Given the description of an element on the screen output the (x, y) to click on. 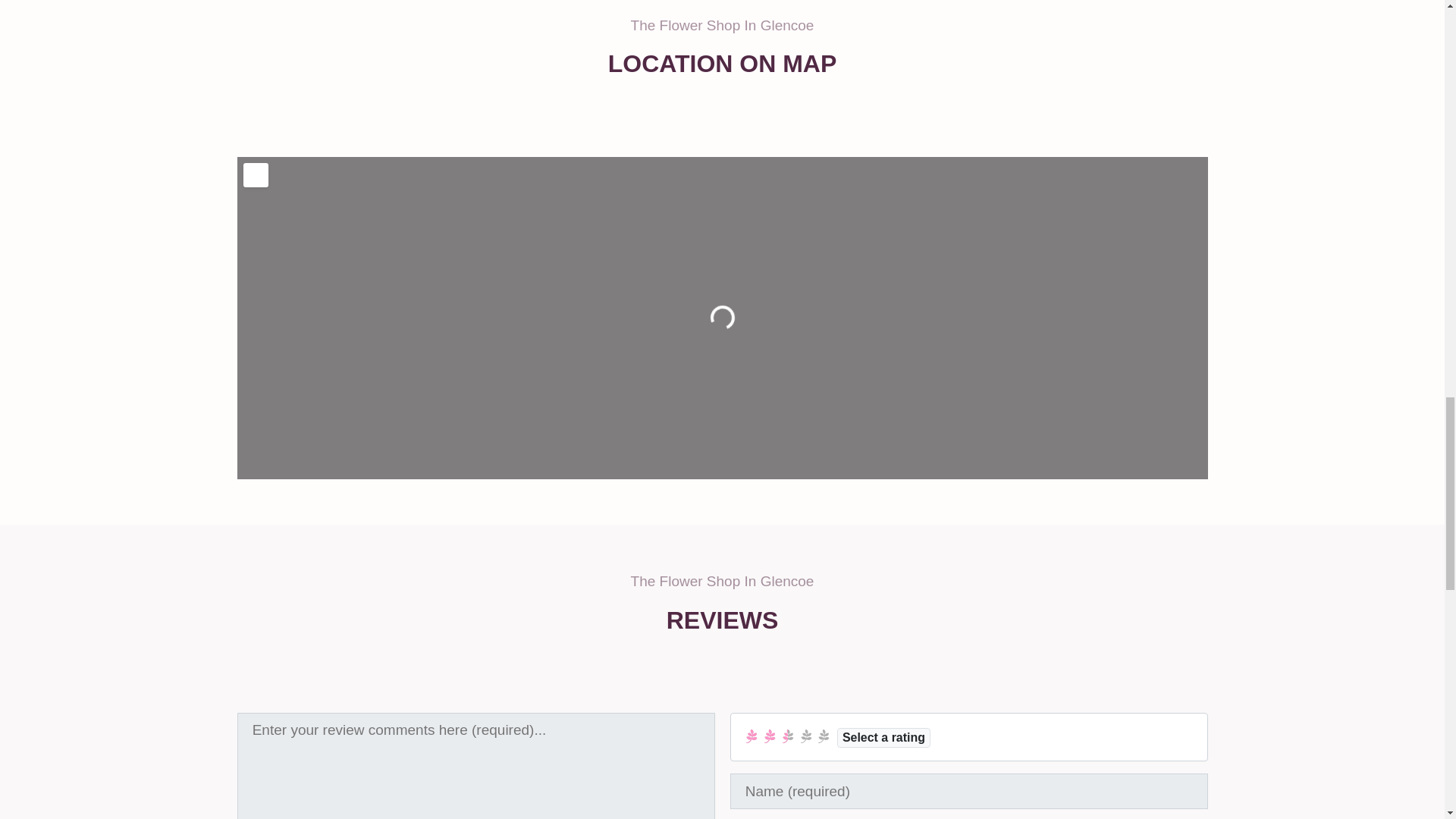
Average (787, 735)
Excellent (822, 735)
Very Good (805, 735)
Terrible (751, 735)
Poor (769, 735)
